Given the description of an element on the screen output the (x, y) to click on. 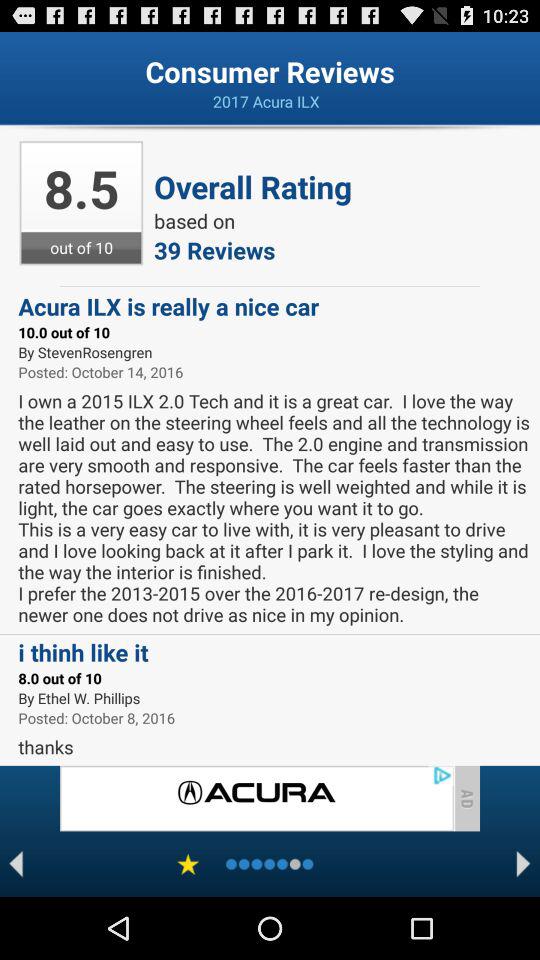
advertise bar (256, 798)
